Given the description of an element on the screen output the (x, y) to click on. 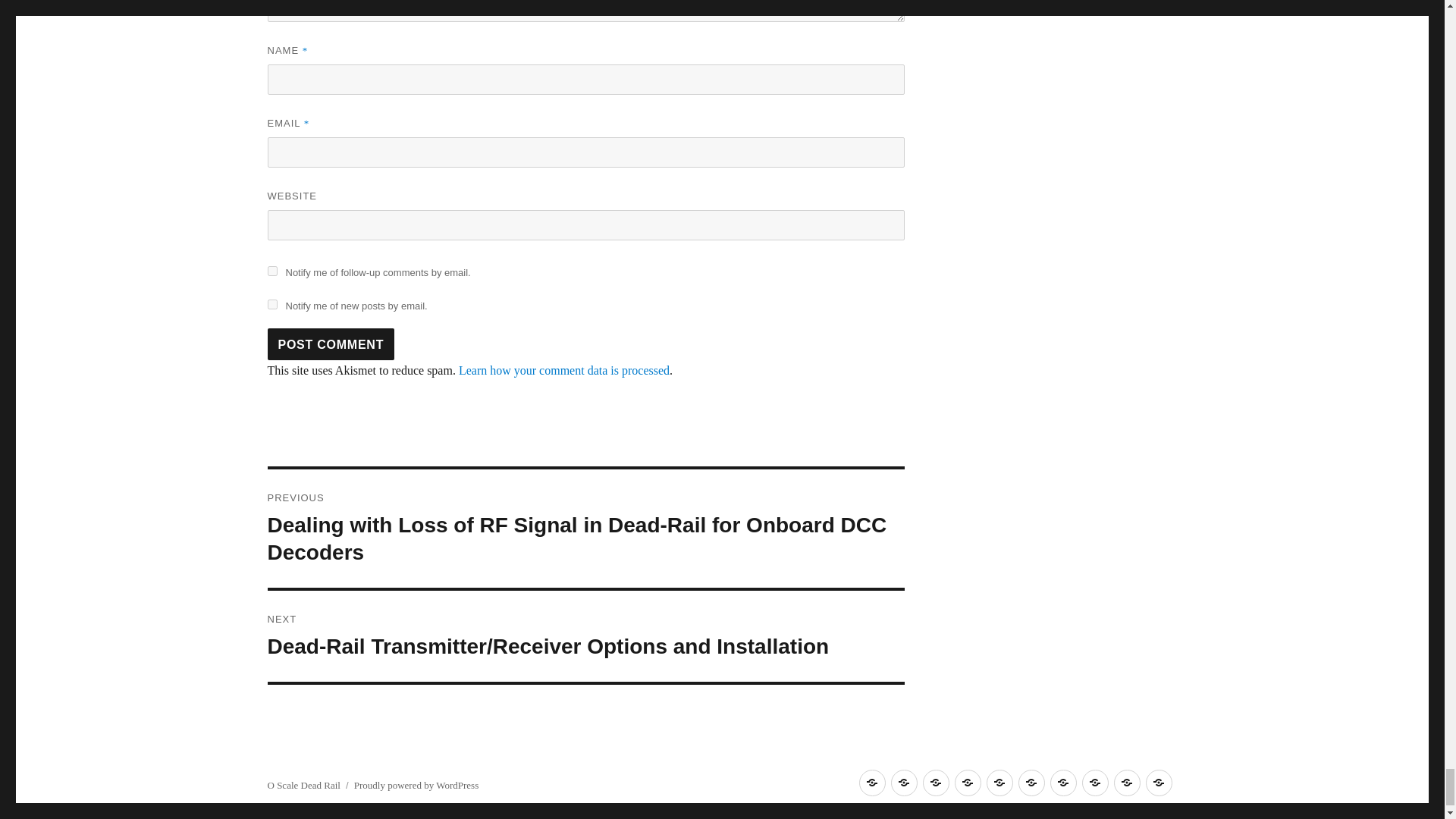
subscribe (271, 271)
subscribe (271, 304)
Post Comment (330, 344)
